Given the description of an element on the screen output the (x, y) to click on. 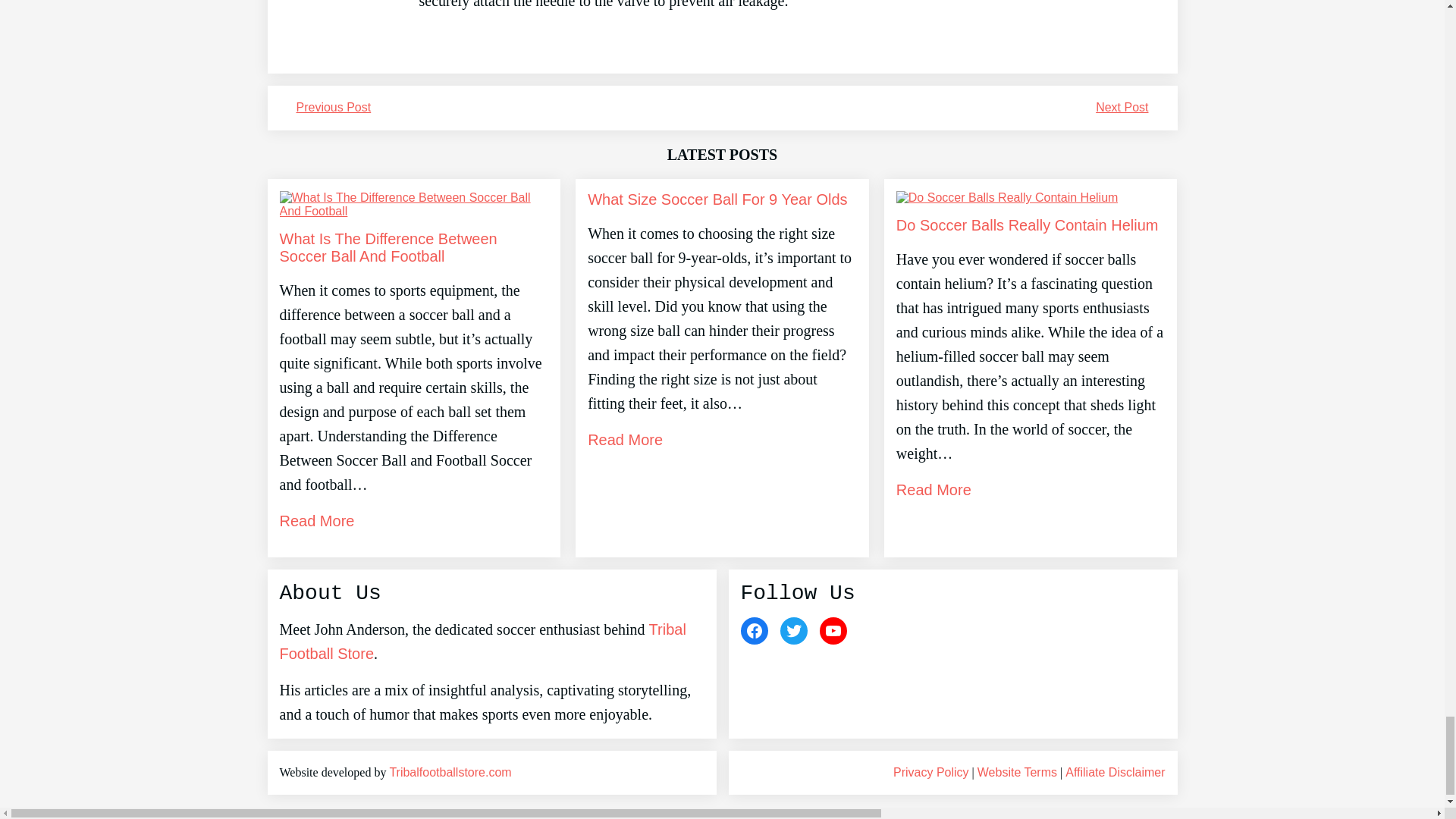
What Is The Difference Between Soccer Ball And Football (413, 247)
YouTube (831, 630)
Previous Post (333, 106)
Facebook (753, 630)
Read More (933, 489)
Read More (625, 439)
What Size Soccer Ball For 9 Year Olds (717, 199)
Read More (316, 520)
Affiliate Disclaimer (1114, 771)
Next Post (1122, 106)
Twitter (792, 630)
Tribalfootballstore.com (449, 771)
Website Terms (1016, 771)
Tribal Football Store (482, 640)
Privacy Policy (931, 771)
